Given the description of an element on the screen output the (x, y) to click on. 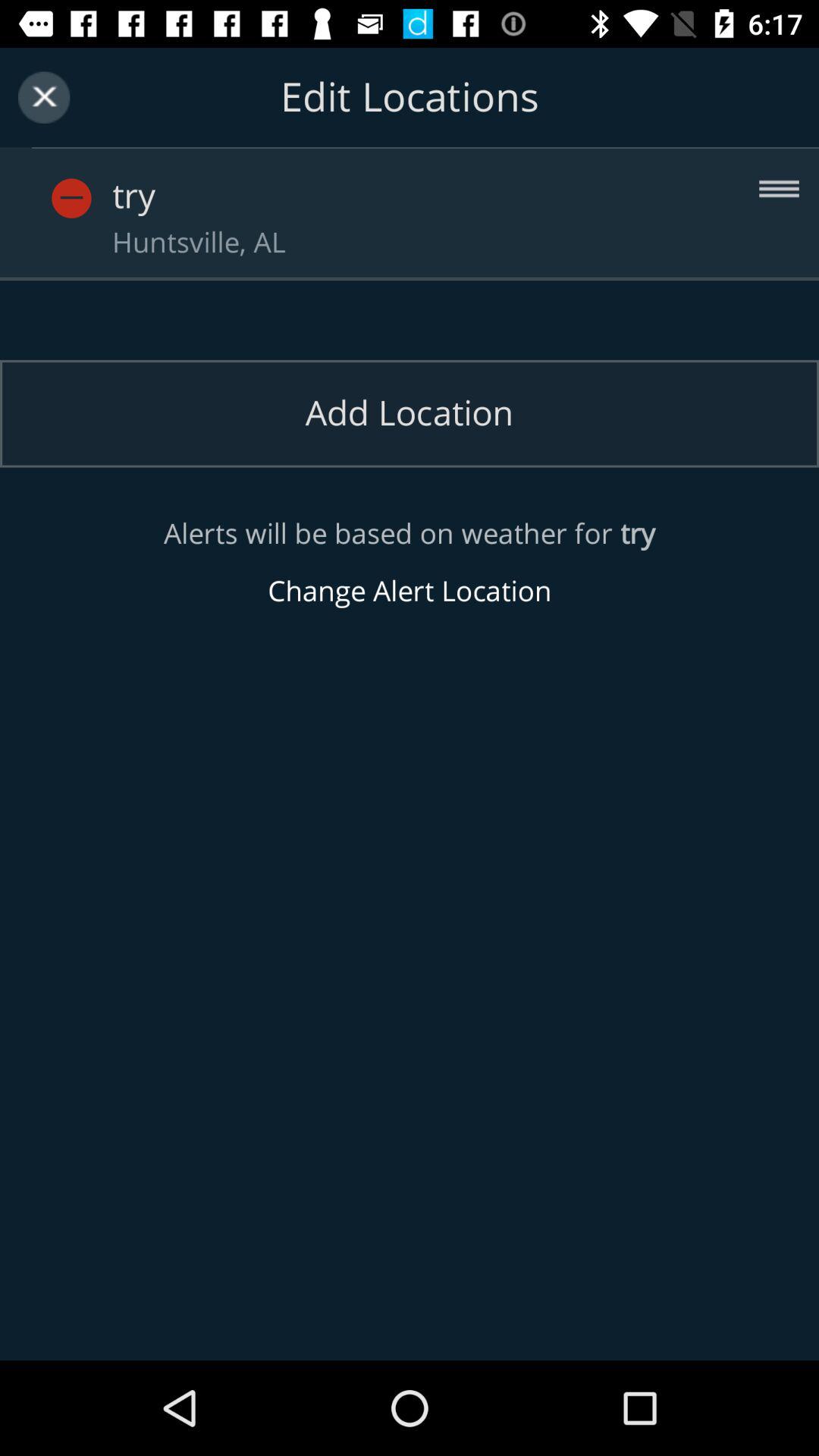
remove (71, 198)
